Given the description of an element on the screen output the (x, y) to click on. 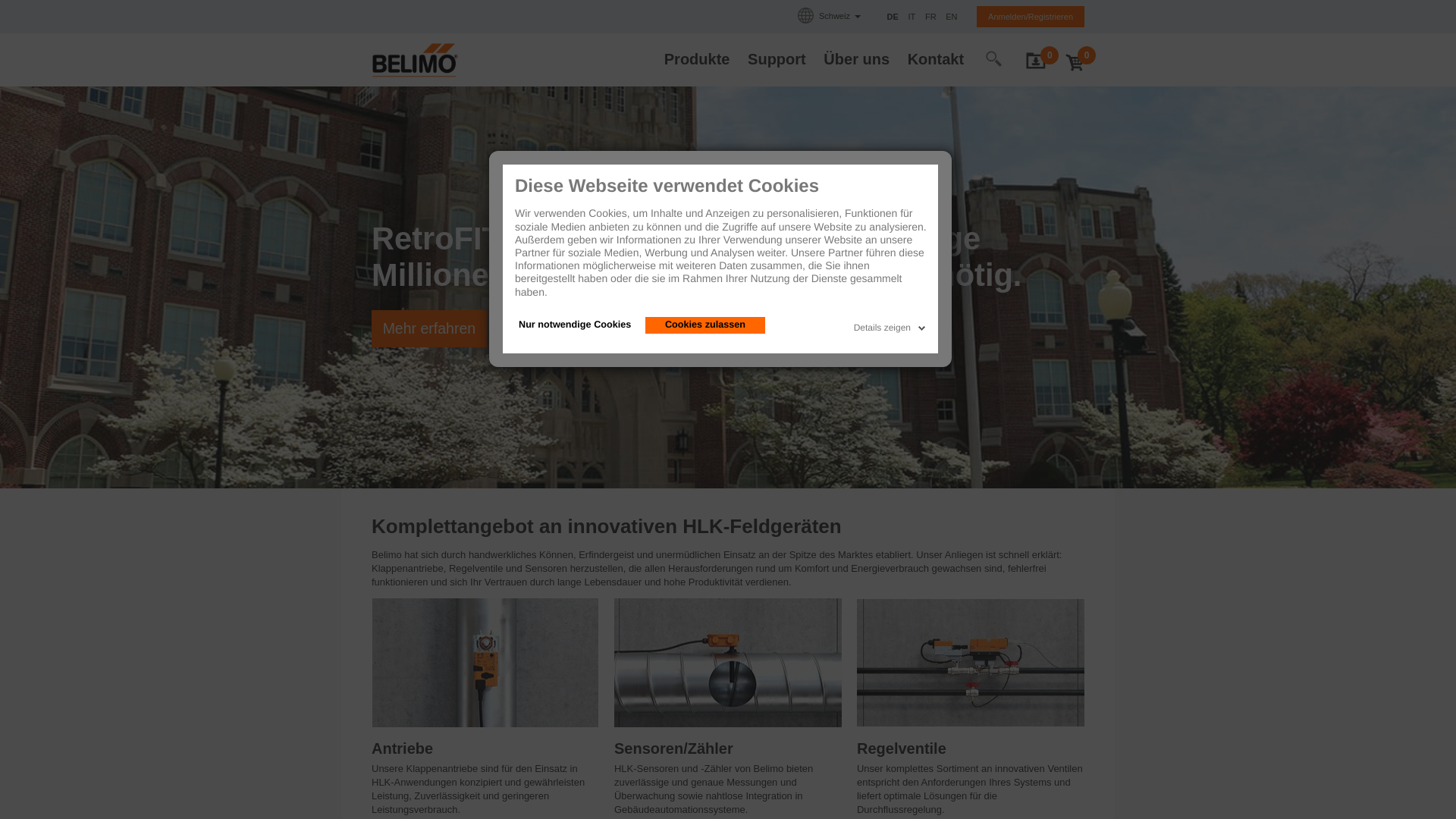
DE Element type: text (894, 15)
EN Element type: text (951, 15)
Home Element type: hover (414, 59)
Mehr erfahren Element type: text (428, 328)
Nur notwendige Cookies Element type: text (574, 324)
Anmelden/Registrieren Element type: text (1030, 17)
Details zeigen Element type: text (890, 324)
IT Element type: text (913, 15)
FR Element type: text (931, 15)
Cookies zulassen Element type: text (705, 324)
